Given the description of an element on the screen output the (x, y) to click on. 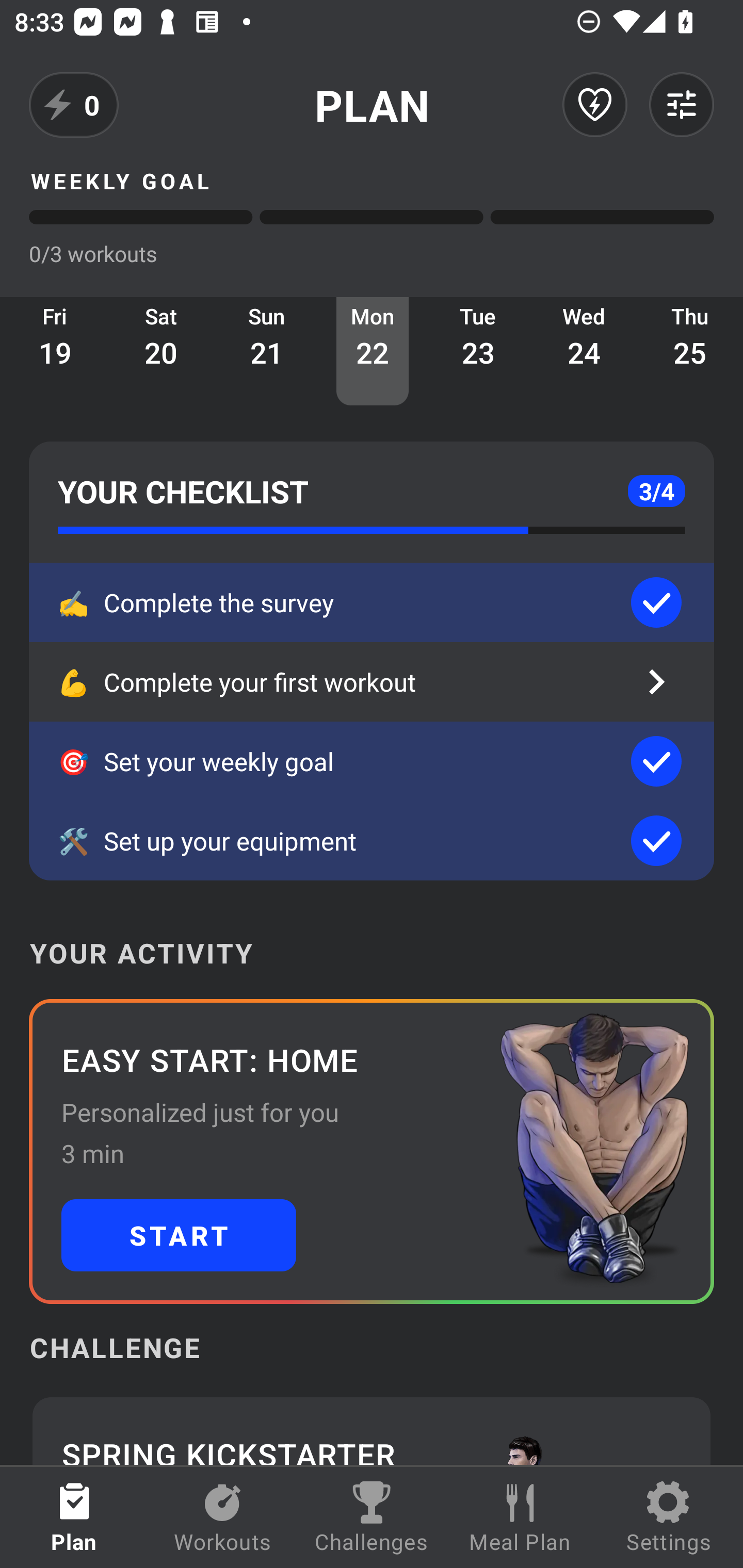
0 (73, 104)
Fri 19 (55, 351)
Sat 20 (160, 351)
Sun 21 (266, 351)
Mon 22 (372, 351)
Tue 23 (478, 351)
Wed 24 (584, 351)
Thu 25 (690, 351)
💪 Complete your first workout (371, 681)
START (178, 1235)
 Workouts  (222, 1517)
 Challenges  (371, 1517)
 Meal Plan  (519, 1517)
 Settings  (668, 1517)
